Given the description of an element on the screen output the (x, y) to click on. 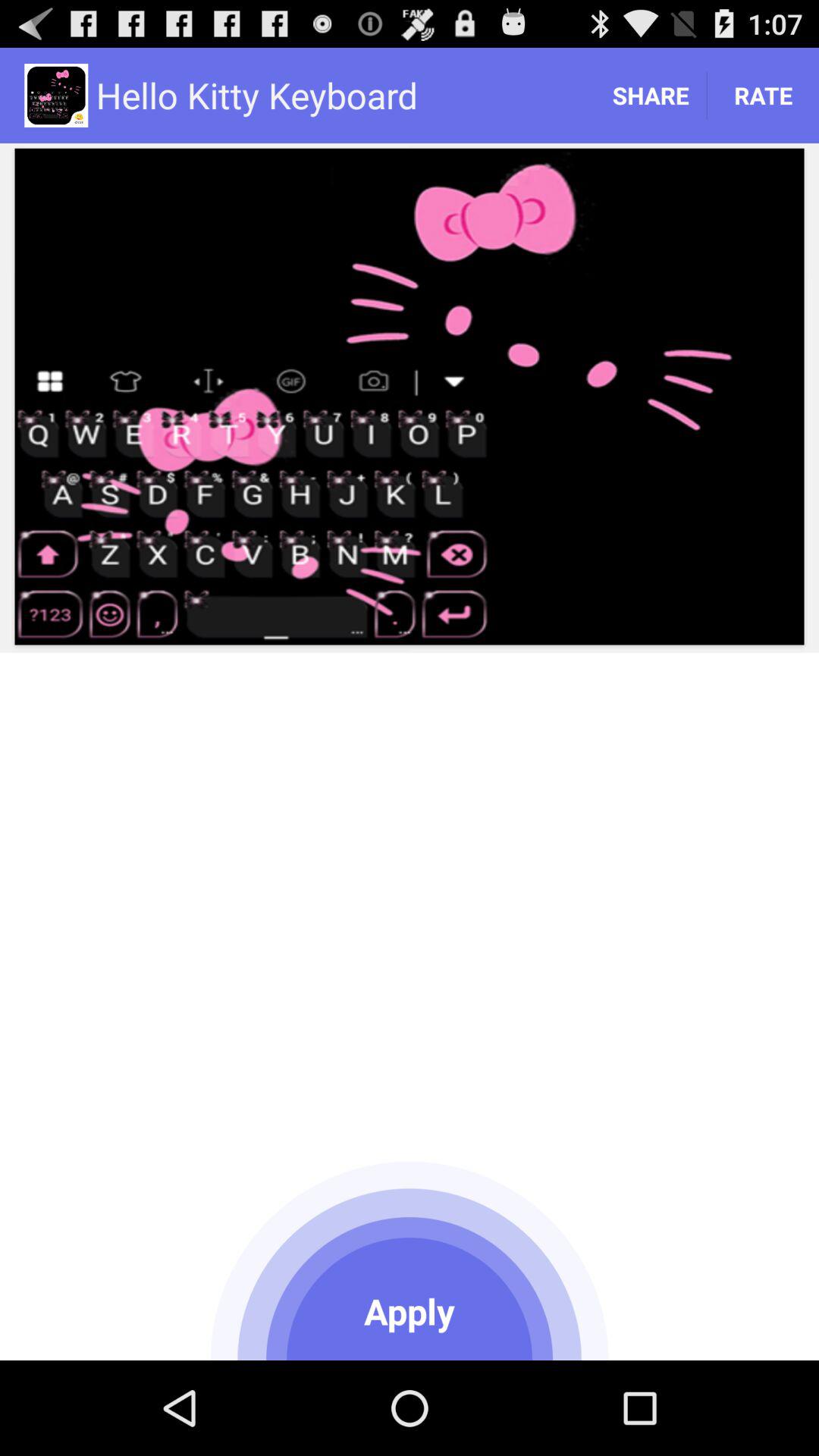
select app next to hello kitty keyboard item (650, 95)
